Given the description of an element on the screen output the (x, y) to click on. 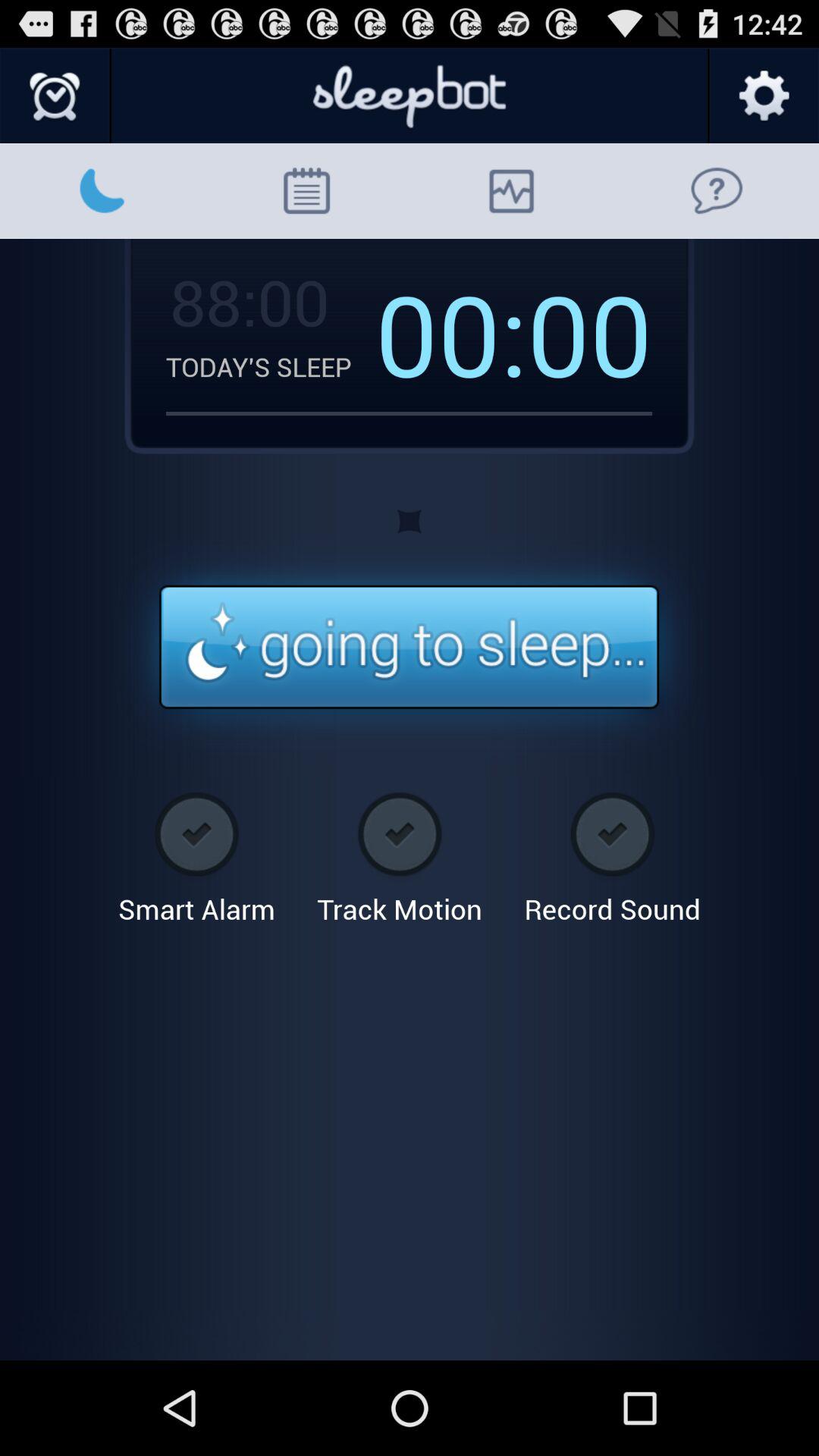
select the item to the right of the smart alarm (399, 852)
